Given the description of an element on the screen output the (x, y) to click on. 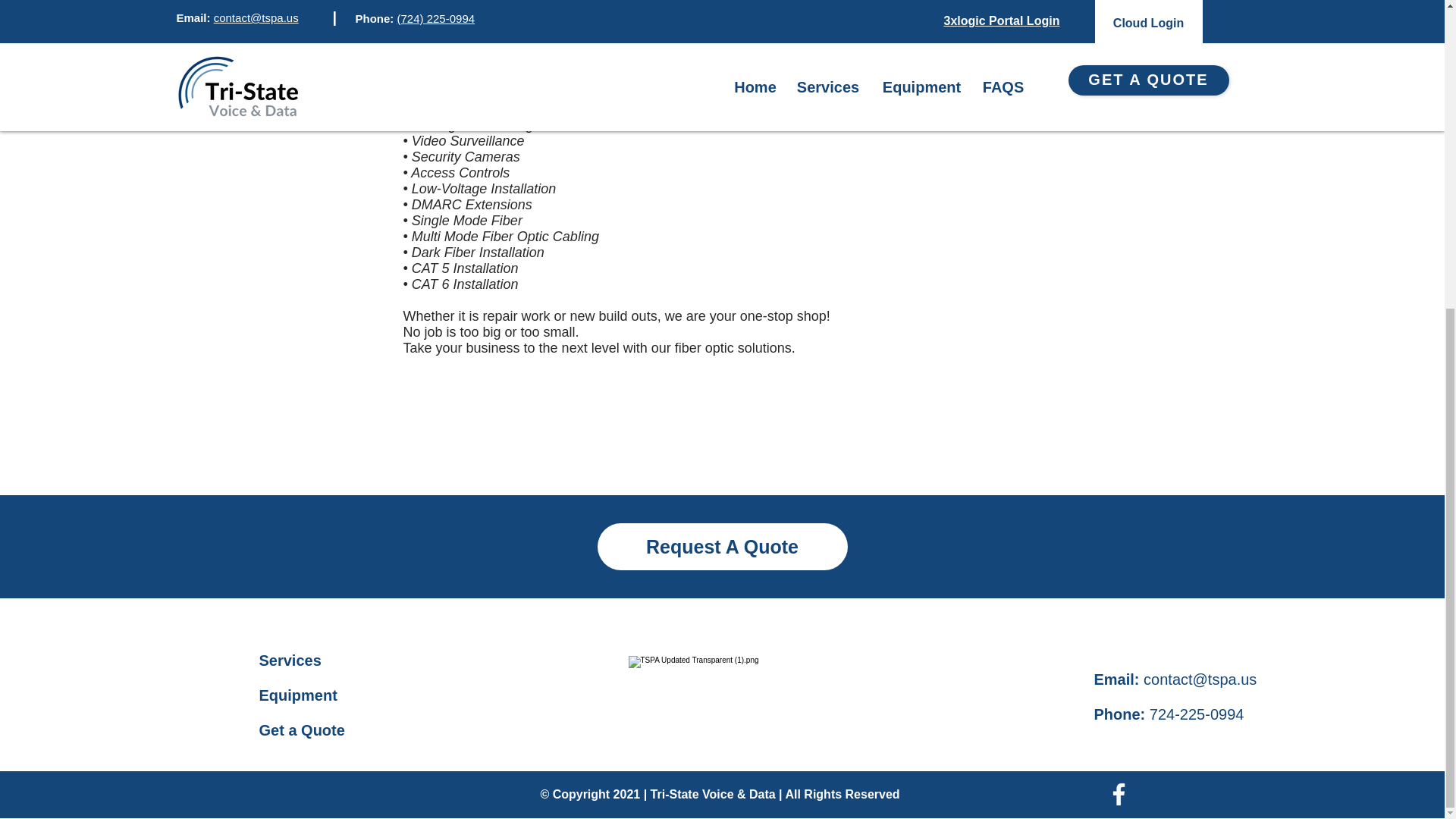
Equipment (298, 695)
Get a Quote (302, 729)
724-225-0994 (1197, 713)
Request A Quote (721, 546)
Services (290, 660)
